Given the description of an element on the screen output the (x, y) to click on. 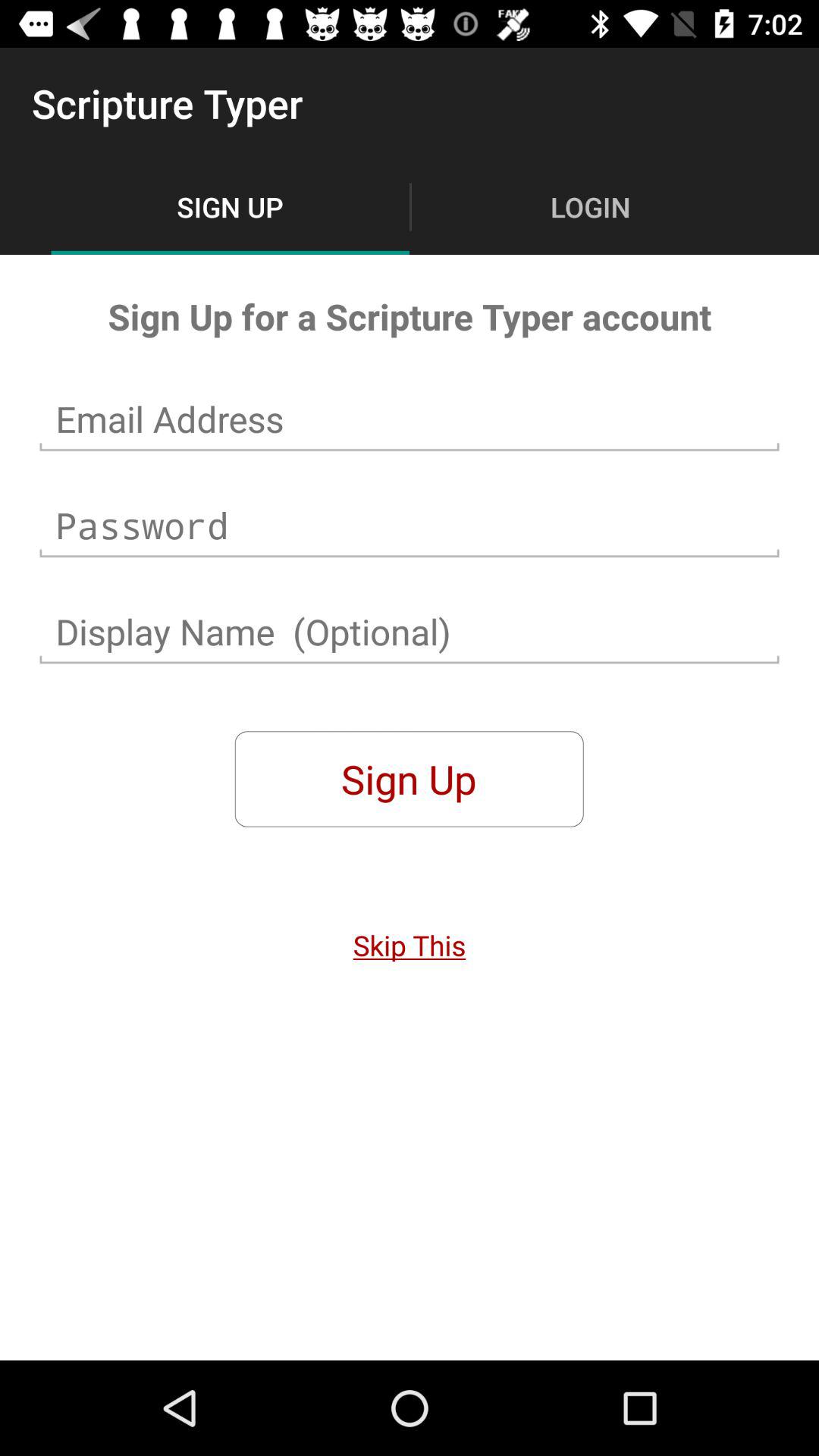
enter password (409, 525)
